Given the description of an element on the screen output the (x, y) to click on. 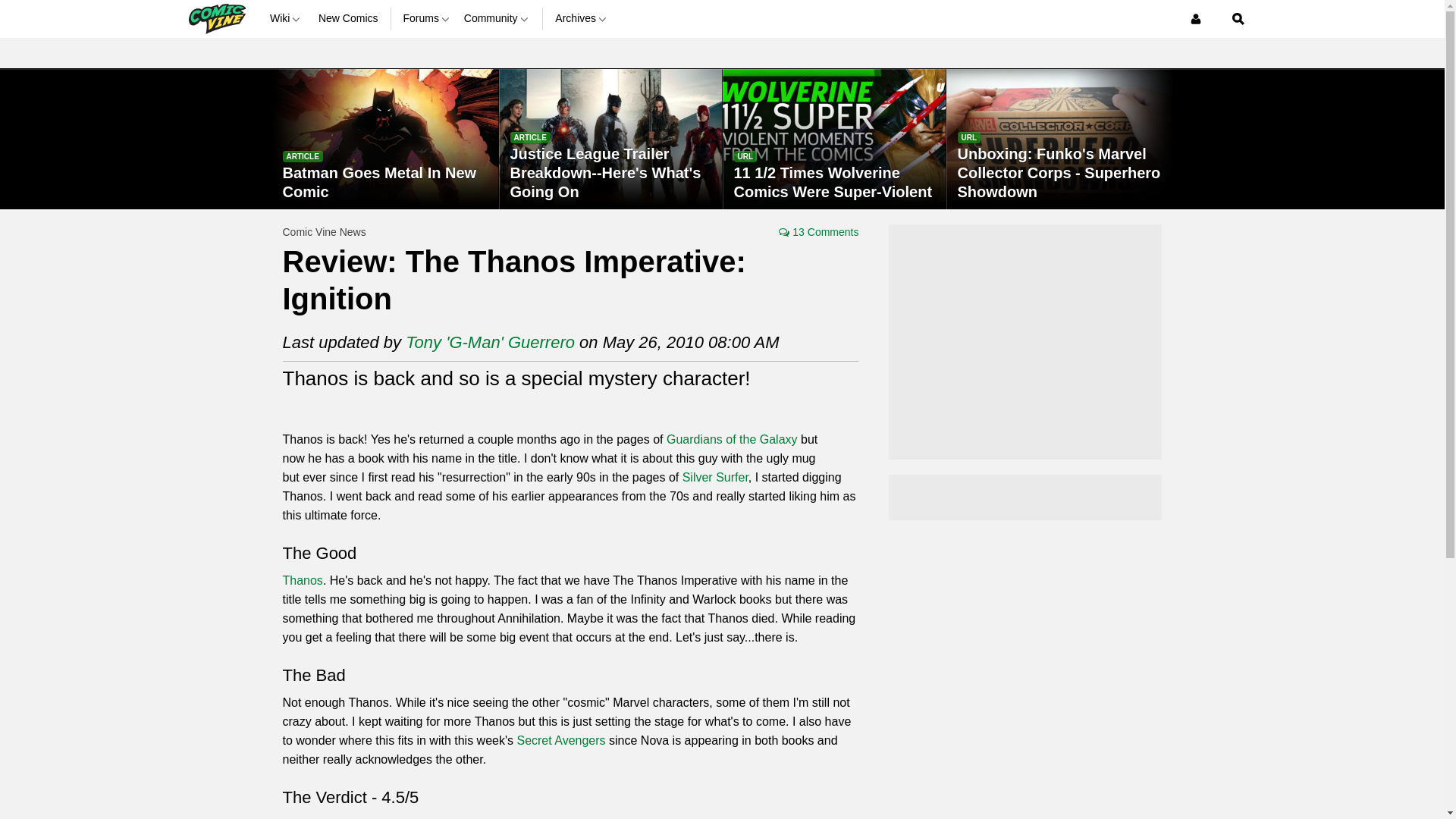
Community (497, 18)
Comic Vine (215, 18)
Forums (427, 18)
Wiki (287, 18)
New Comics (348, 18)
